Given the description of an element on the screen output the (x, y) to click on. 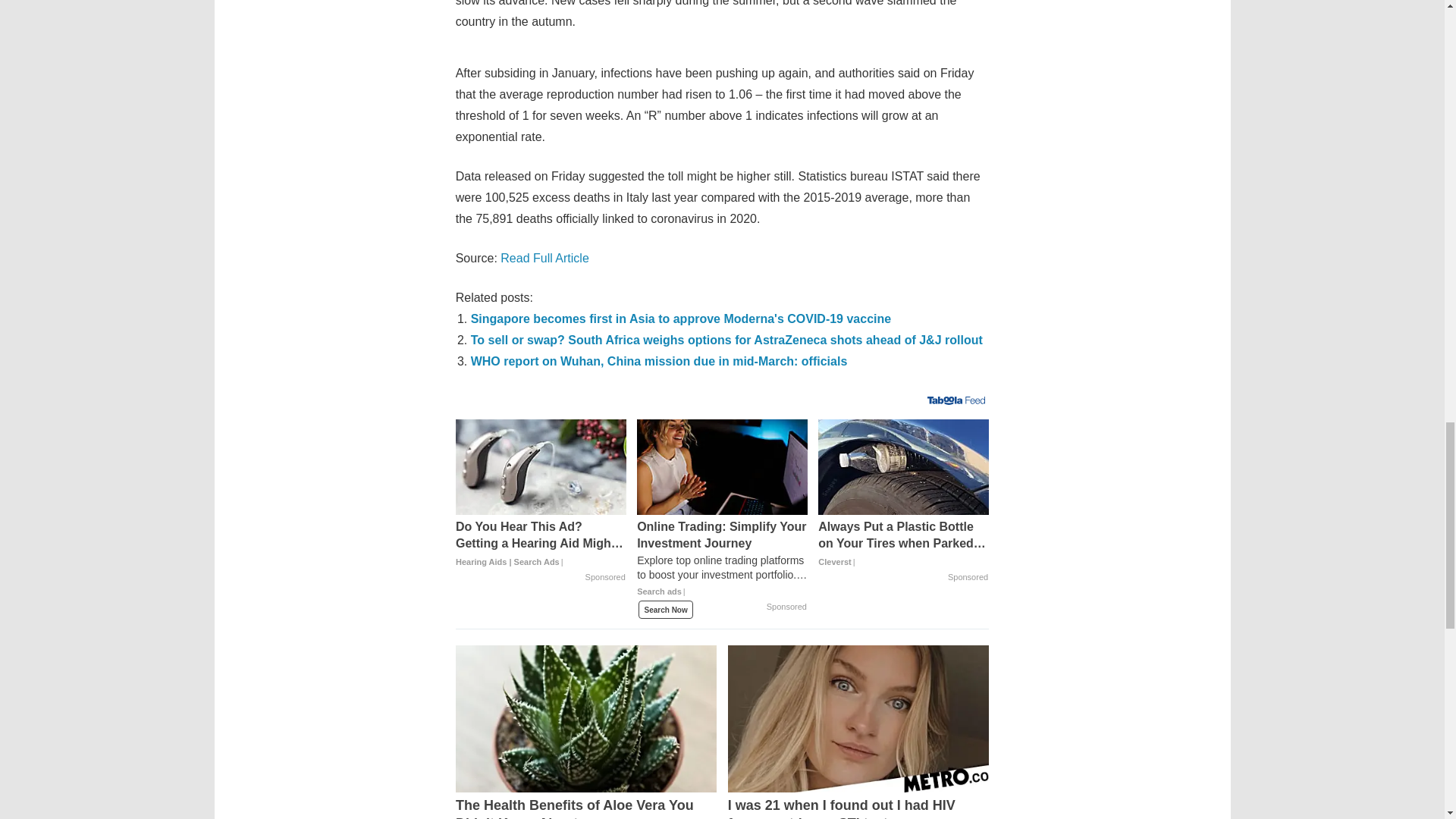
Sponsored (605, 577)
Search Now (666, 609)
Read Full Article (544, 257)
Sponsored (786, 606)
Online Trading: Simplify Your Investment Journey (722, 467)
